Given the description of an element on the screen output the (x, y) to click on. 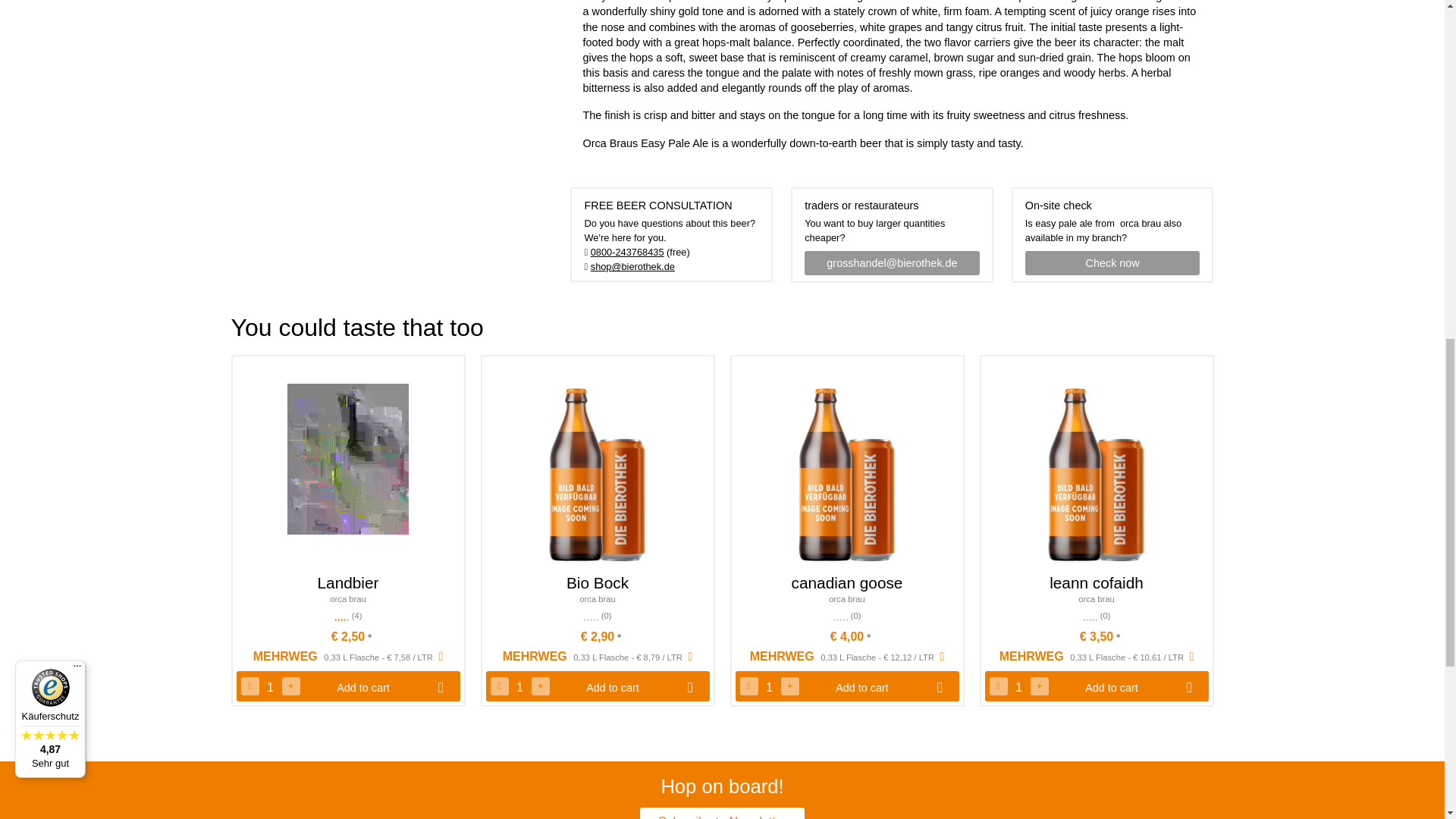
1 (270, 687)
1 (769, 687)
1 (1018, 687)
1 (519, 687)
